Given the description of an element on the screen output the (x, y) to click on. 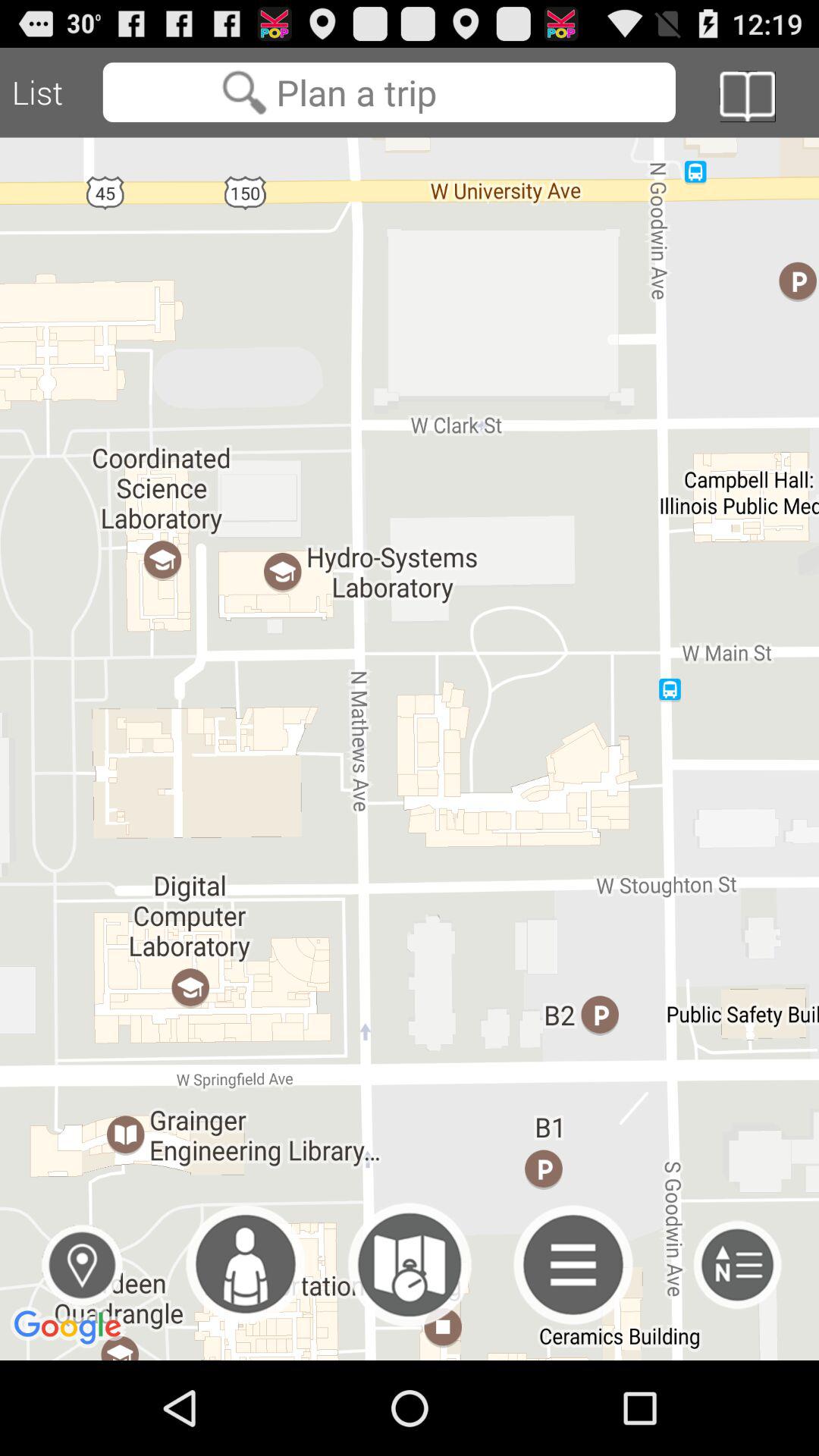
launch item at the bottom (409, 1264)
